Given the description of an element on the screen output the (x, y) to click on. 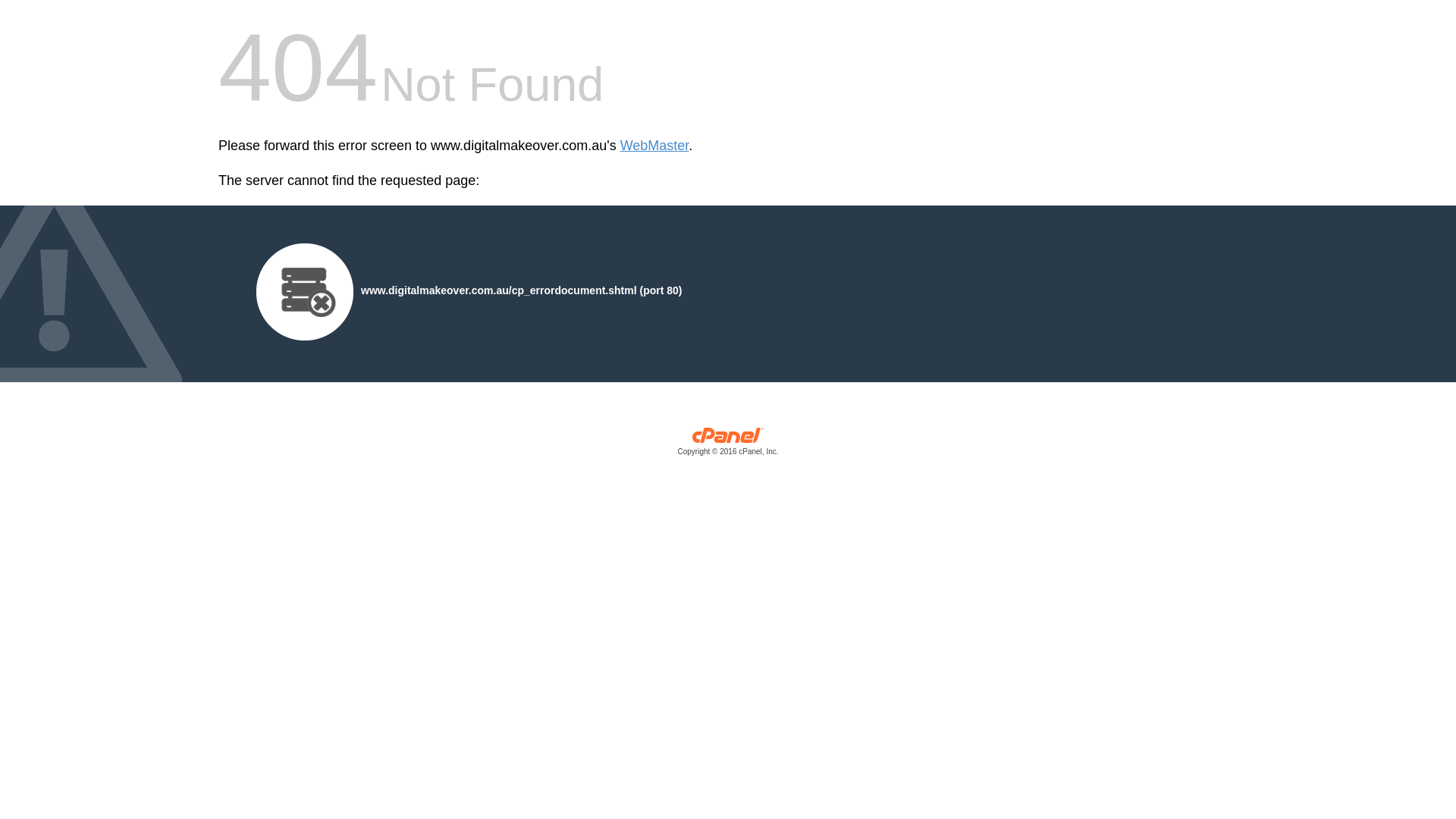
WebMaster Element type: text (654, 145)
